Given the description of an element on the screen output the (x, y) to click on. 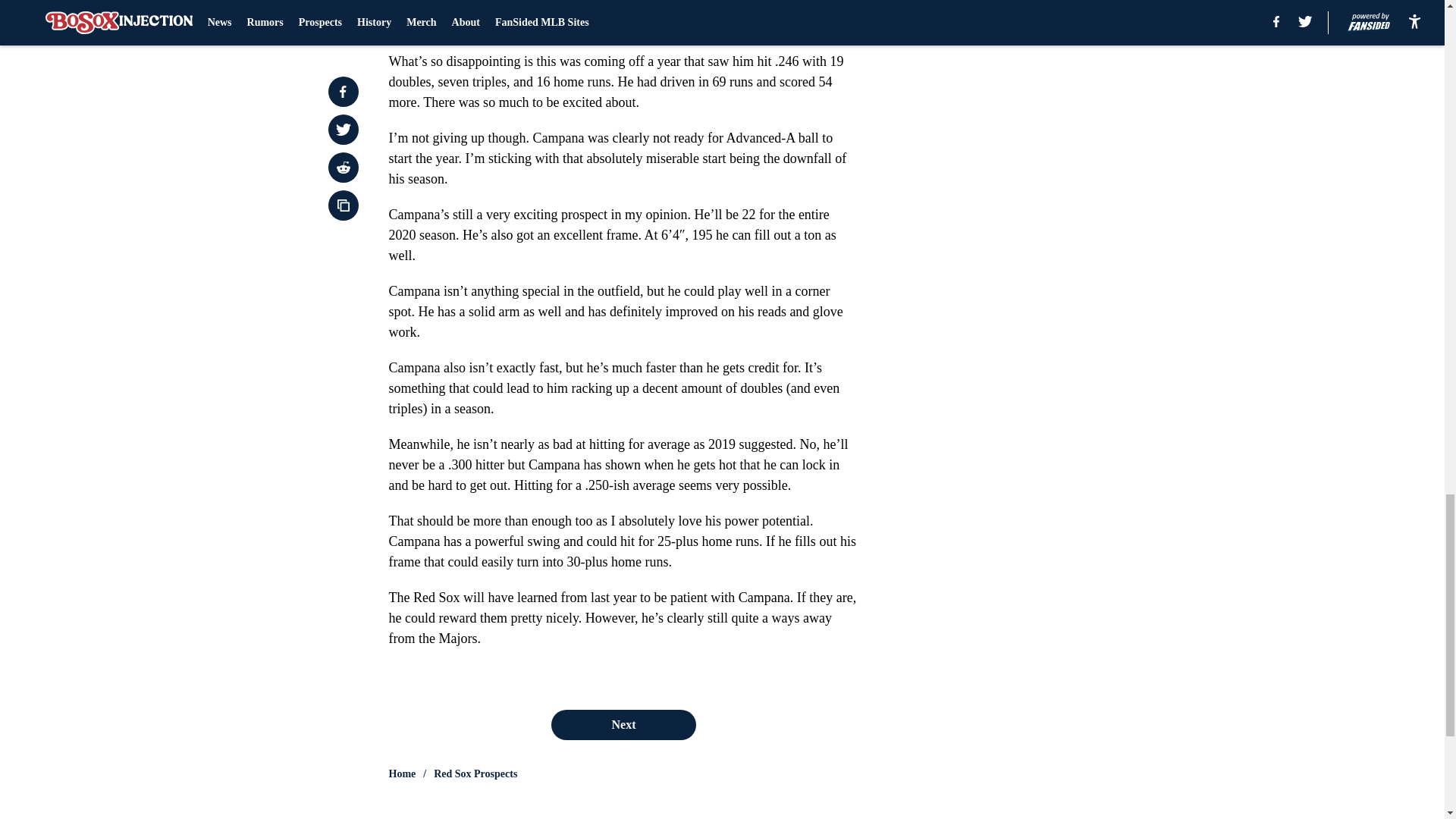
Home (401, 774)
Red Sox Prospects (474, 774)
Next (622, 725)
